Given the description of an element on the screen output the (x, y) to click on. 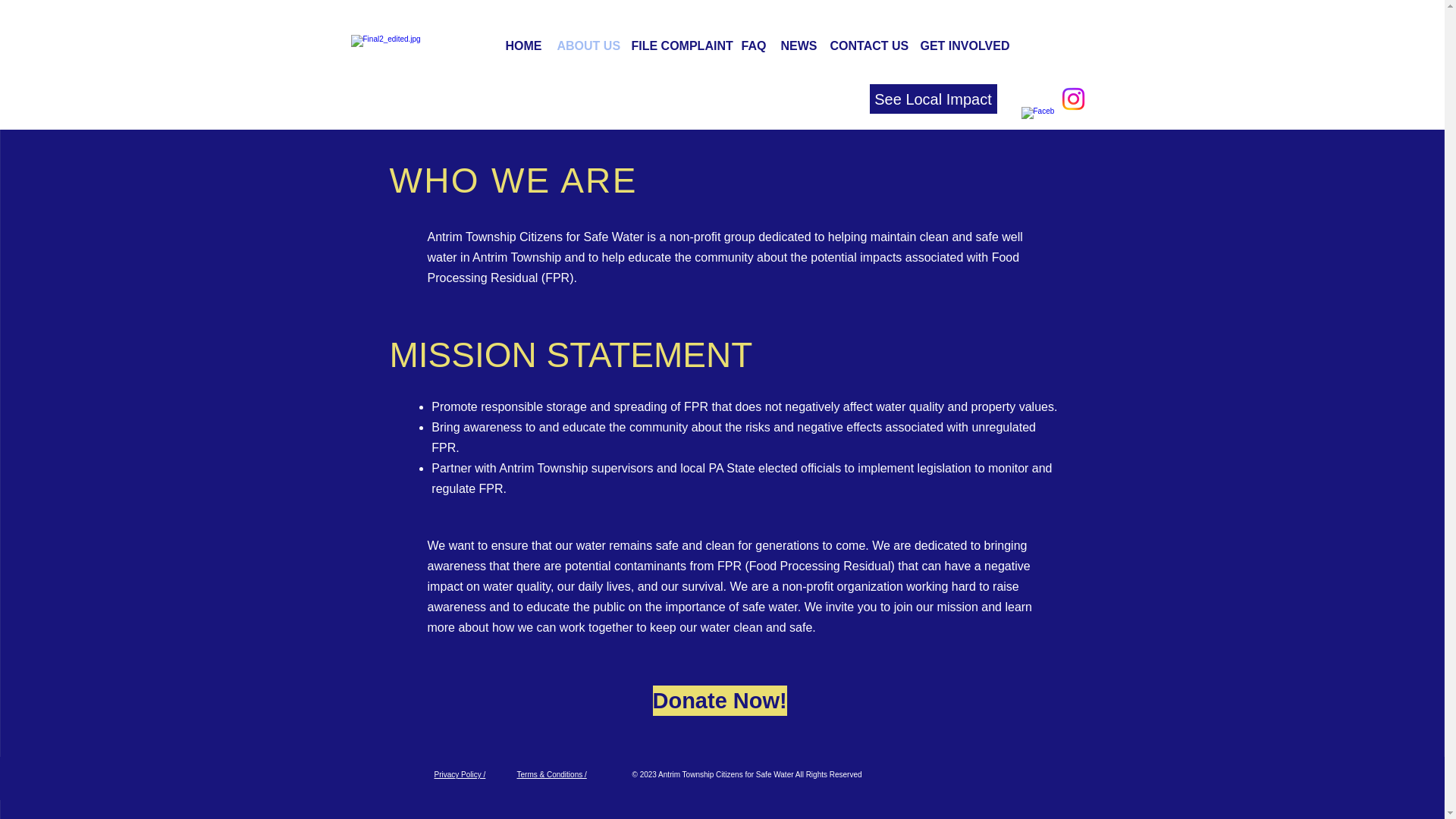
Donate Now! (719, 700)
CONTACT US (867, 46)
FILE COMPLAINT (678, 46)
NEWS (797, 46)
See Local Impact (932, 98)
FAQ (753, 46)
ABOUT US (585, 46)
GET INVOLVED (961, 46)
HOME (522, 46)
